Given the description of an element on the screen output the (x, y) to click on. 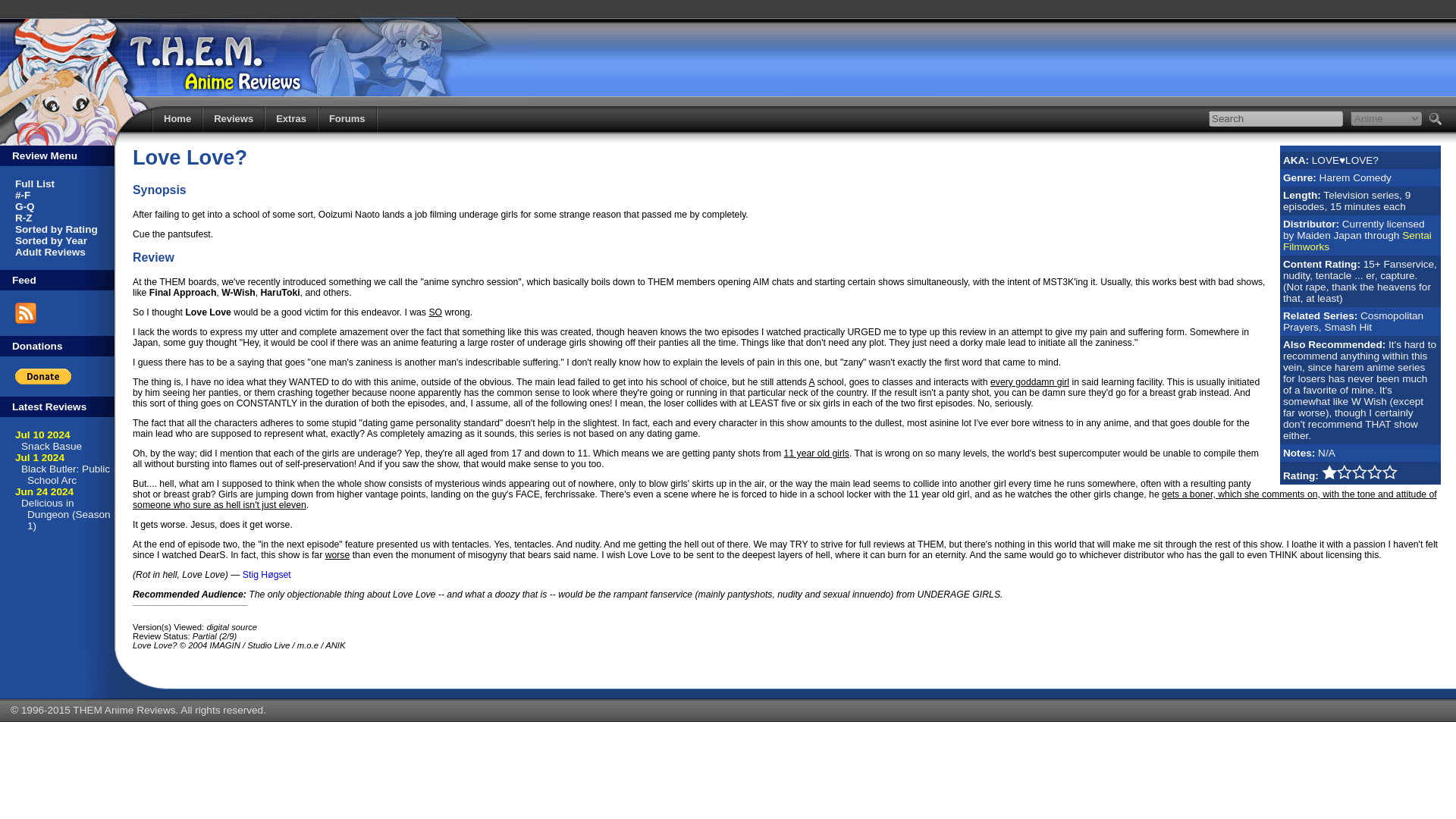
Sorted by Year (50, 240)
Search (1275, 118)
Adult Reviews (49, 251)
G-Q (24, 206)
Reviews (233, 118)
Full List (34, 183)
R-Z (23, 217)
Snack Basue (51, 446)
Forums (347, 118)
Home (176, 118)
Search (1275, 118)
Sentai Filmworks (1356, 241)
Extras (290, 118)
Sorted by Rating (55, 229)
Black Butler: Public School Arc (65, 474)
